Given the description of an element on the screen output the (x, y) to click on. 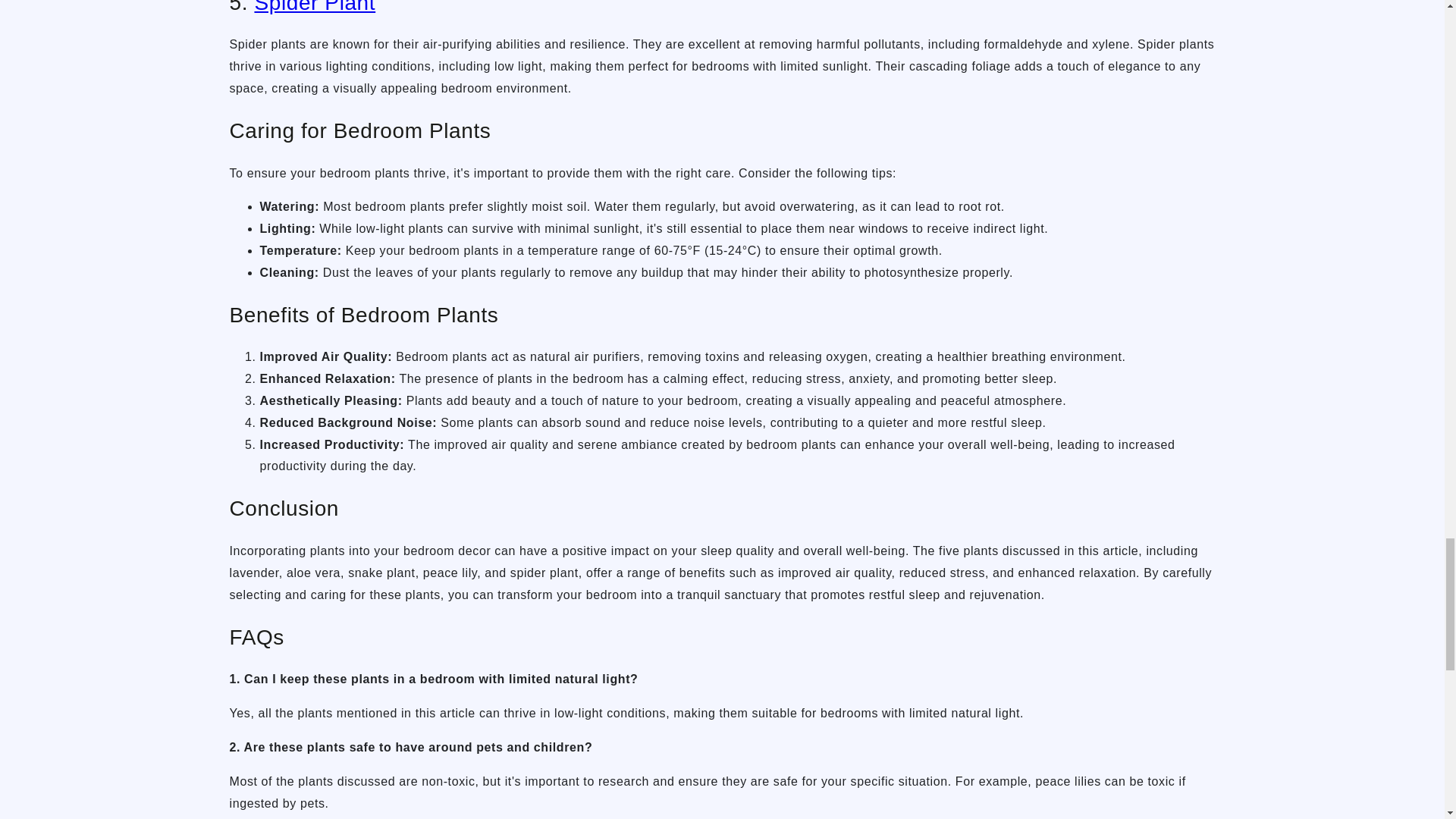
Spider Plant (314, 7)
